Given the description of an element on the screen output the (x, y) to click on. 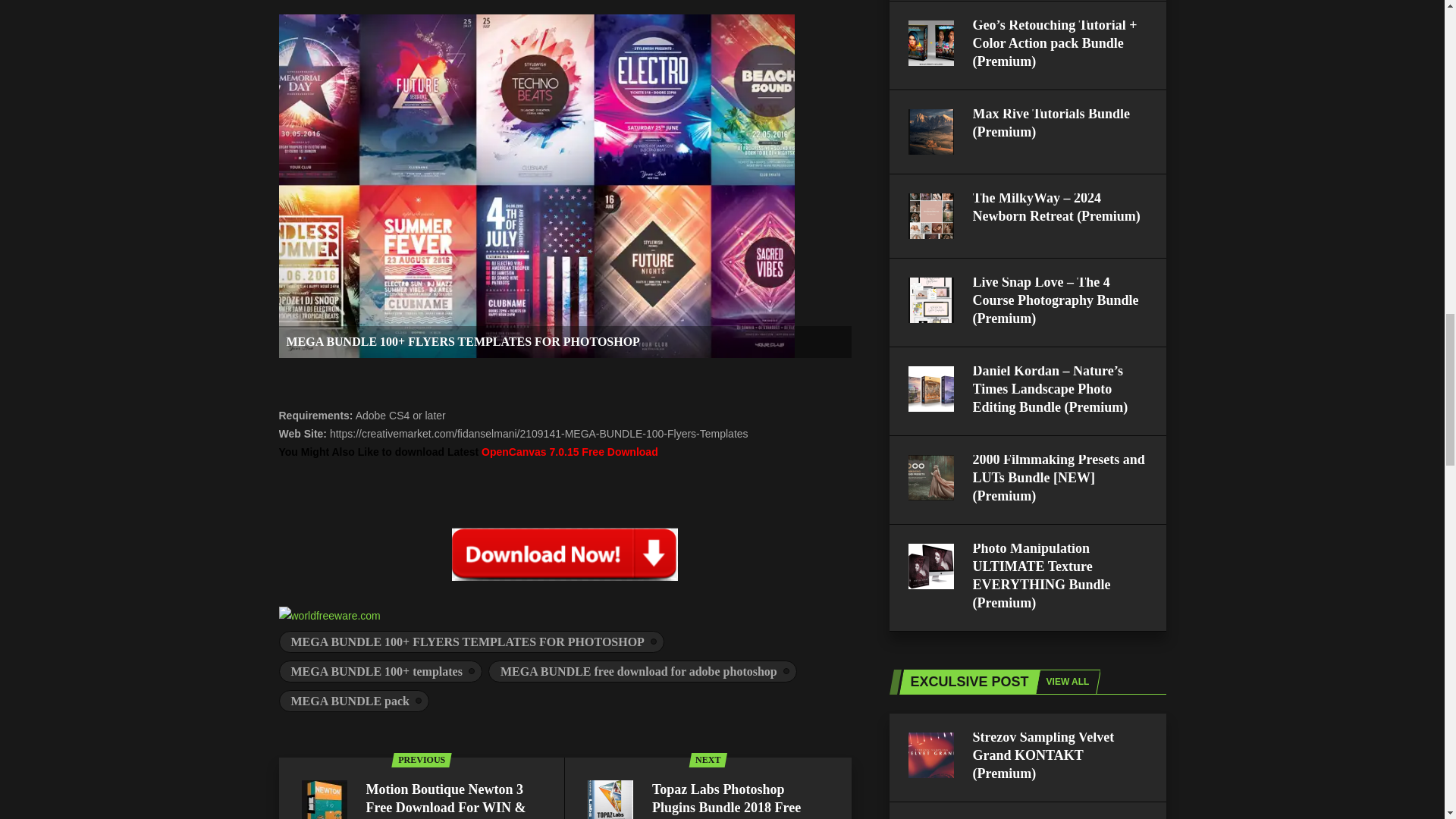
MEGA BUNDLE free download for adobe photoshop (641, 671)
MEGA BUNDLE pack (354, 700)
